Given the description of an element on the screen output the (x, y) to click on. 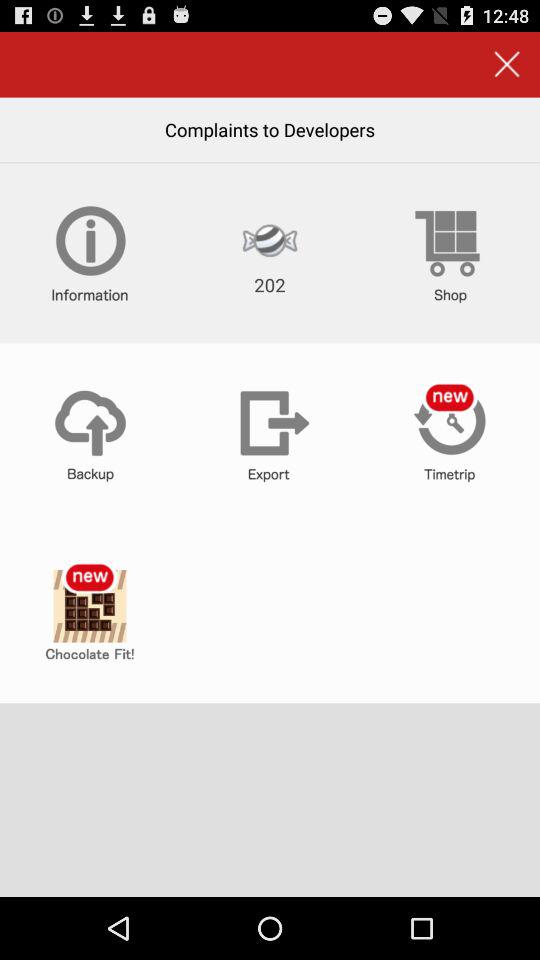
launch the complaints to developers item (270, 129)
